Given the description of an element on the screen output the (x, y) to click on. 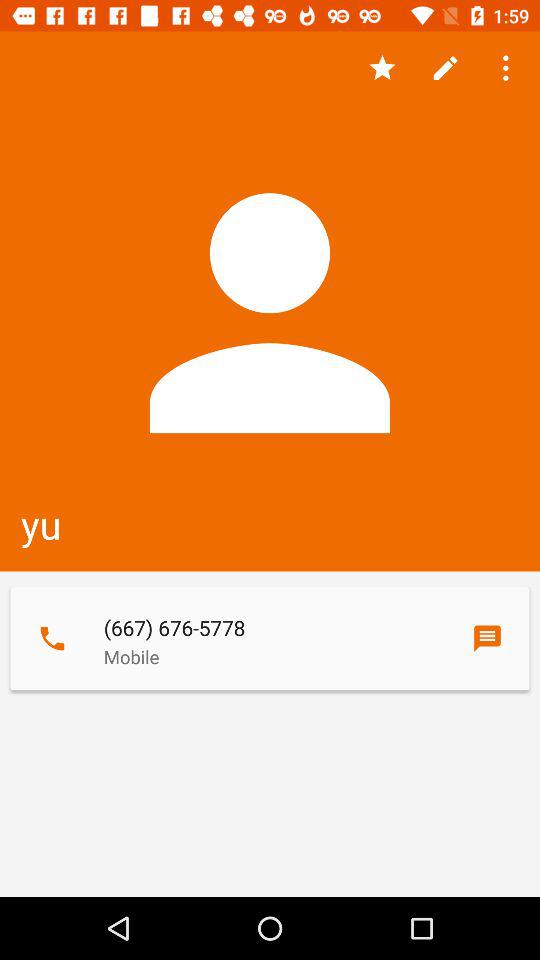
click the item above yu (444, 67)
